Given the description of an element on the screen output the (x, y) to click on. 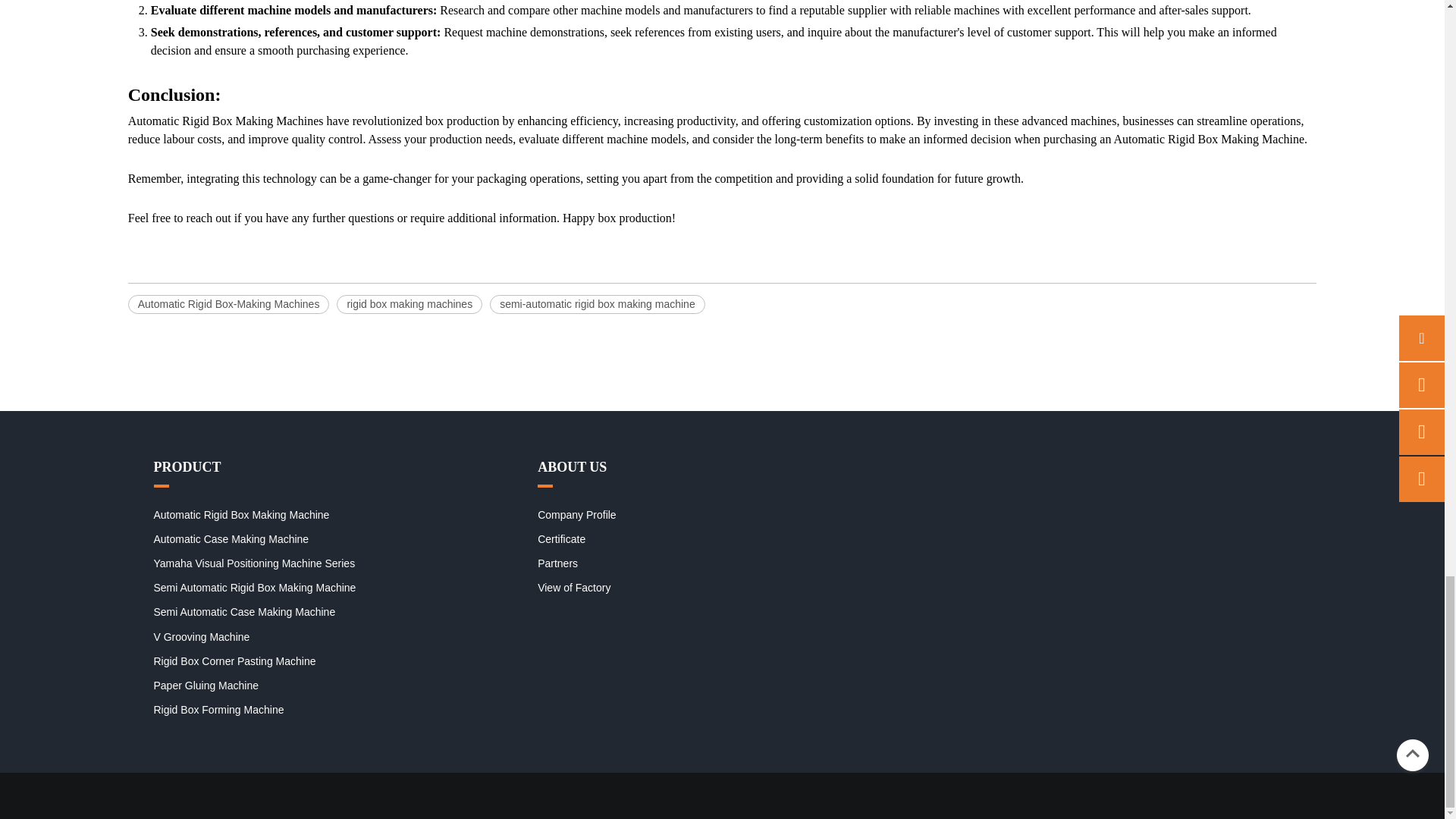
semi-automatic rigid box making machine (596, 303)
Automatic Rigid Box Making Machine (240, 514)
rigid box making machines (408, 303)
Automatic Rigid Box-Making Machines (229, 303)
